Given the description of an element on the screen output the (x, y) to click on. 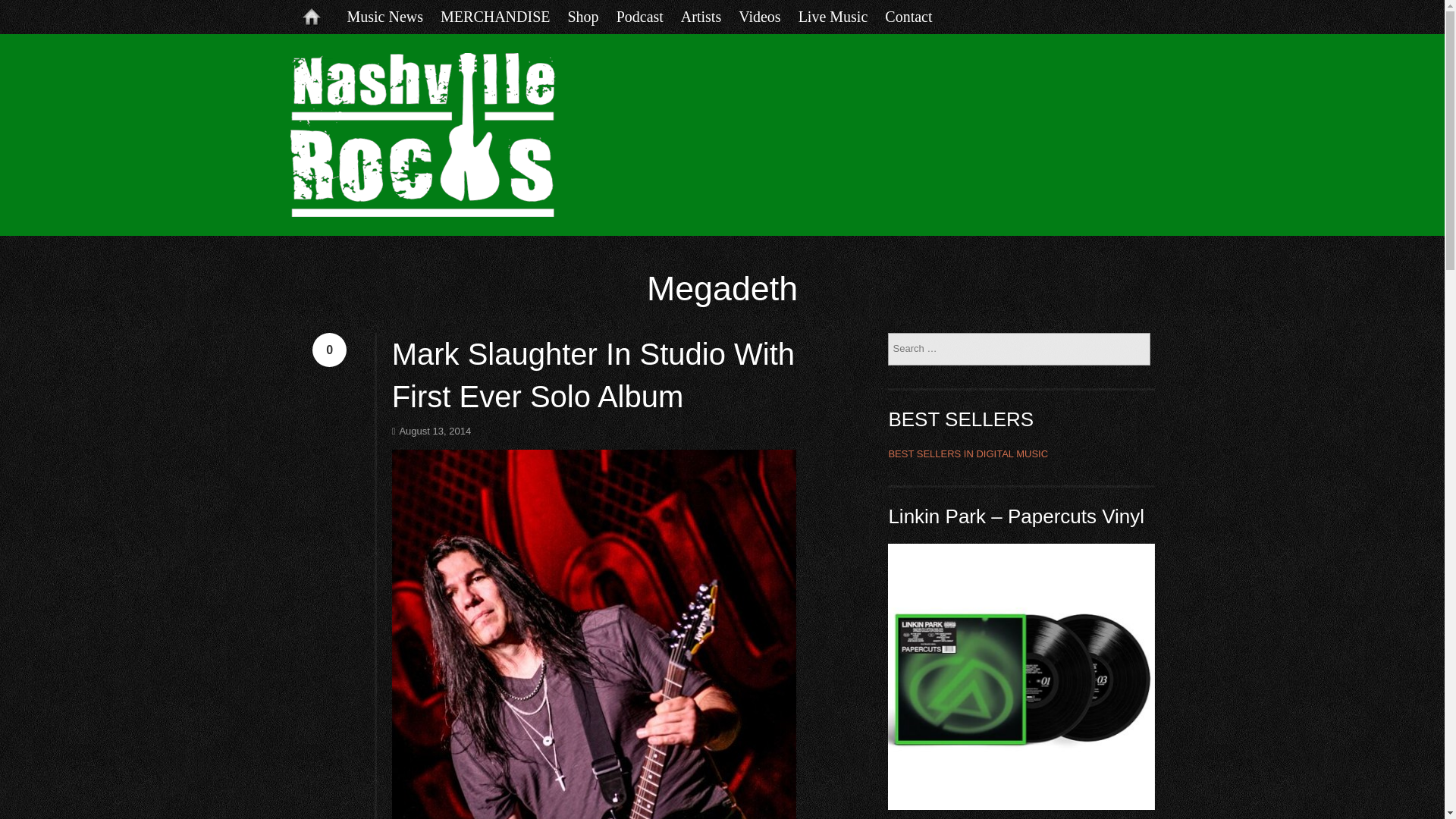
Shop (591, 17)
0 (329, 349)
MERCHANDISE (504, 17)
Podcast (648, 17)
Videos (767, 17)
0 (329, 349)
Music News (394, 17)
Mark Slaughter In Studio With First Ever Solo Album (592, 375)
Music News (394, 17)
August 13, 2014 (430, 430)
Artists (709, 17)
Live Music (841, 17)
